Given the description of an element on the screen output the (x, y) to click on. 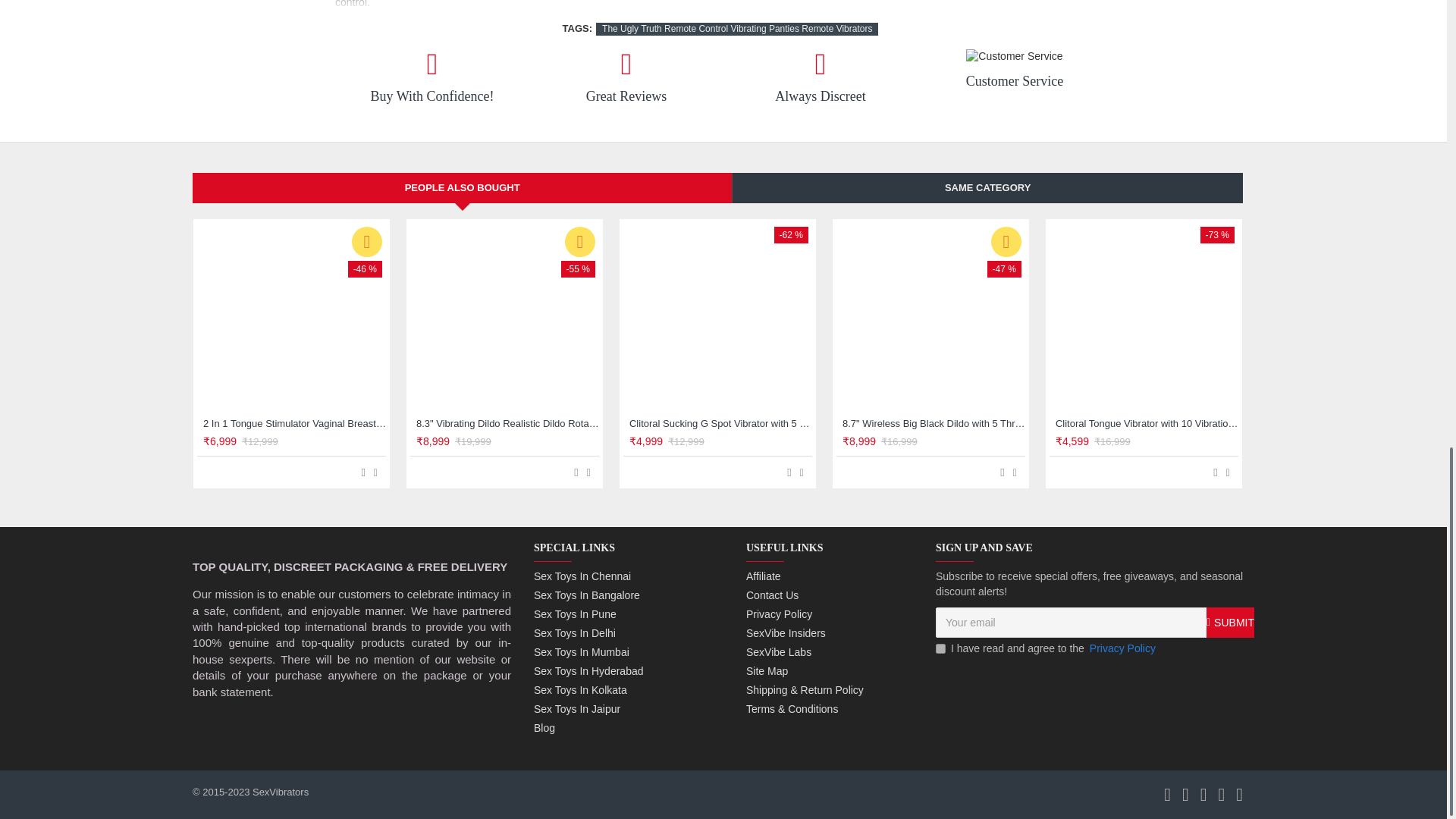
1 (940, 648)
